Given the description of an element on the screen output the (x, y) to click on. 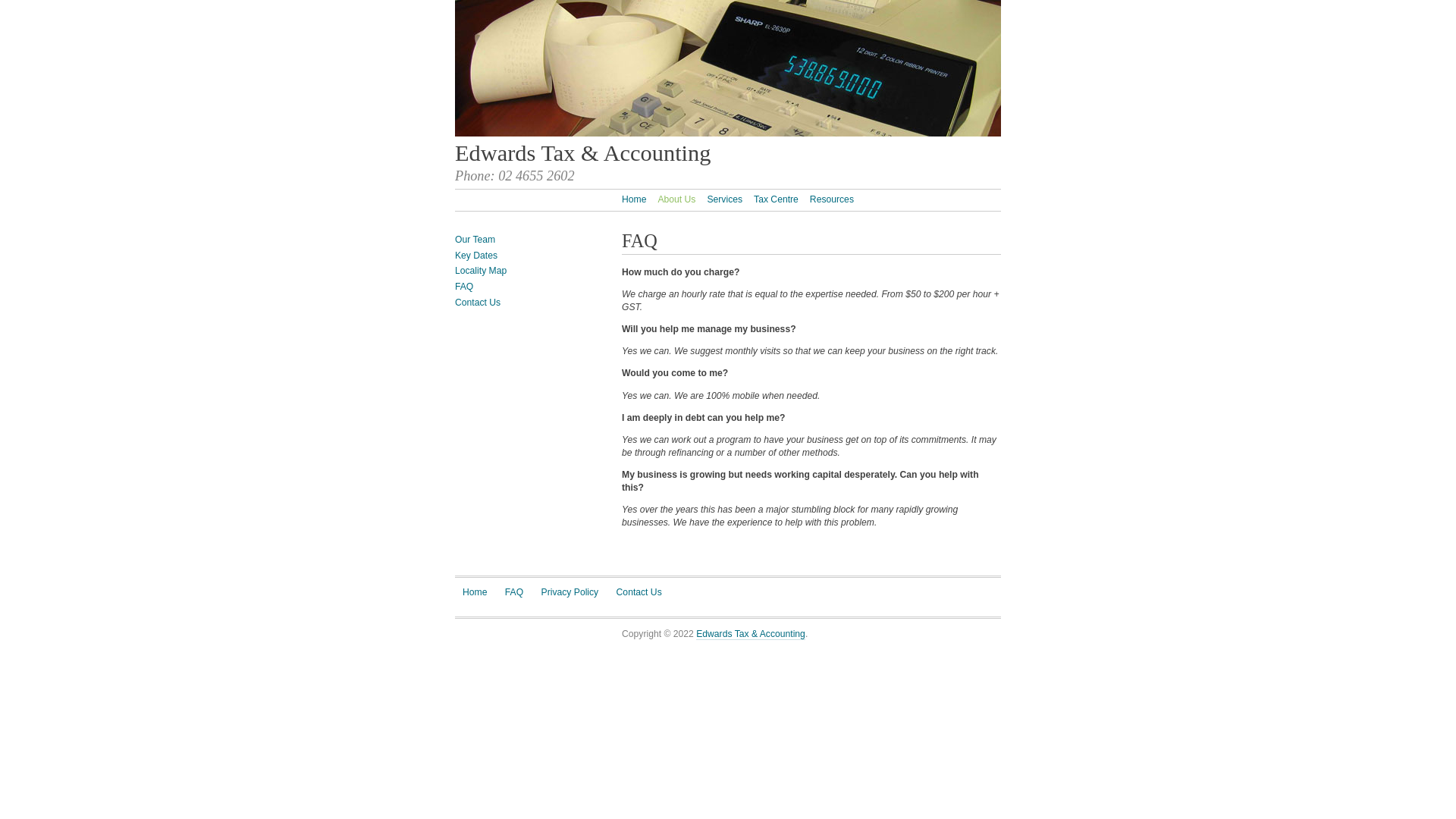
Edwards Tax & Accounting Element type: text (582, 153)
About Us Element type: text (676, 199)
Privacy Policy Element type: text (570, 591)
FAQ Element type: text (514, 591)
Contact Us Element type: text (639, 591)
Key Dates Element type: text (476, 255)
Home Element type: text (474, 591)
Resources Element type: text (831, 199)
Contact Us Element type: text (477, 302)
Edwards Tax & Accounting Element type: text (750, 634)
Home Element type: text (633, 199)
Return to main page Element type: hover (728, 133)
Services Element type: text (724, 199)
FAQ Element type: text (464, 286)
Our Team Element type: text (475, 239)
Locality Map Element type: text (480, 270)
Tax Centre Element type: text (775, 199)
